Given the description of an element on the screen output the (x, y) to click on. 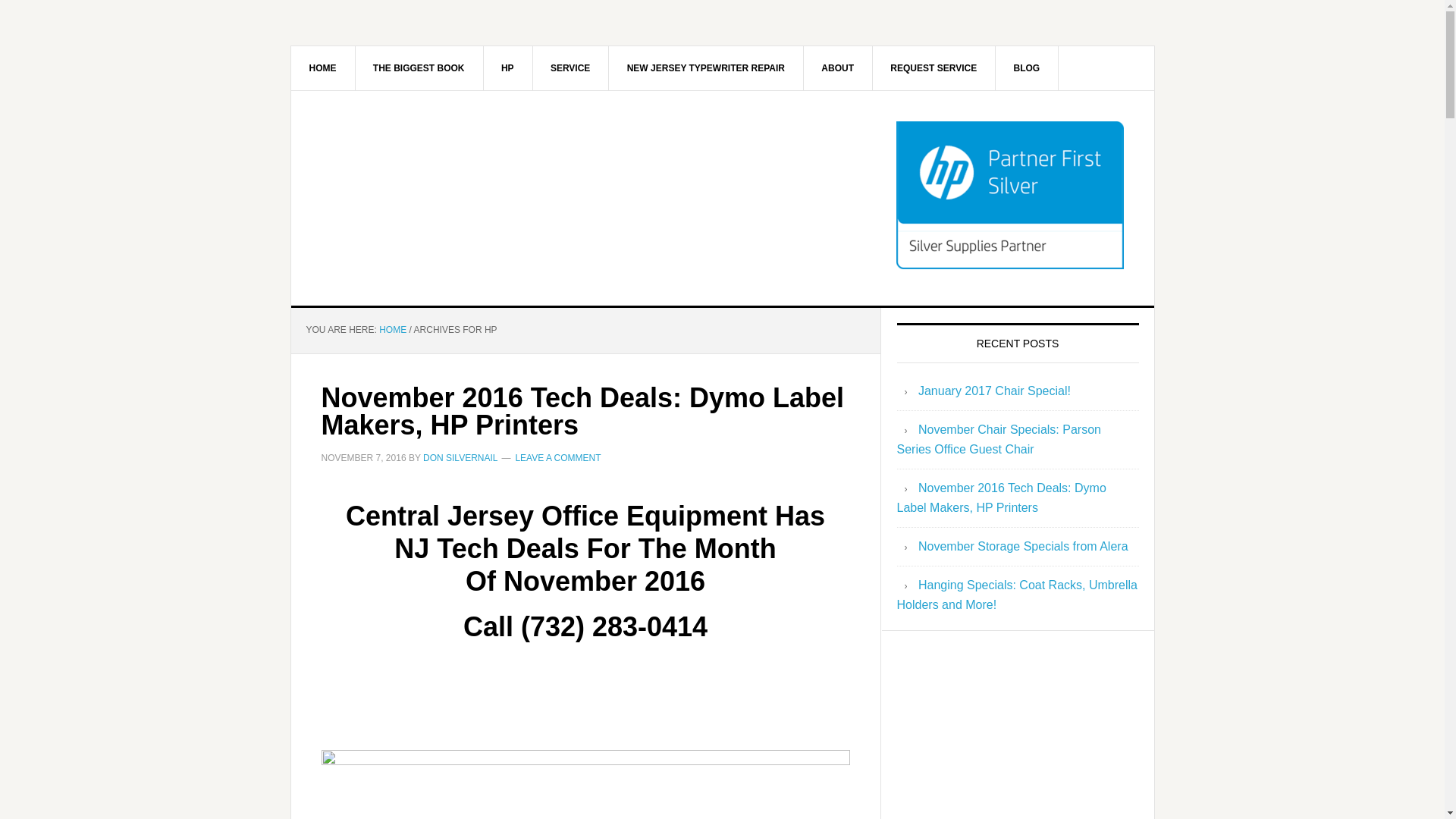
SERVICE (570, 67)
ABOUT (837, 67)
REQUEST SERVICE (933, 67)
HP (507, 67)
HOME (323, 67)
CENTRAL JERSEY OFFICE EQUIPMENT INC. (419, 193)
THE BIGGEST BOOK (419, 67)
BLOG (1026, 67)
HOME (392, 329)
November 2016 Tech Deals: Dymo Label Makers, HP Printers (582, 411)
NEW JERSEY TYPEWRITER REPAIR (705, 67)
DON SILVERNAIL (460, 457)
LEAVE A COMMENT (557, 457)
